Given the description of an element on the screen output the (x, y) to click on. 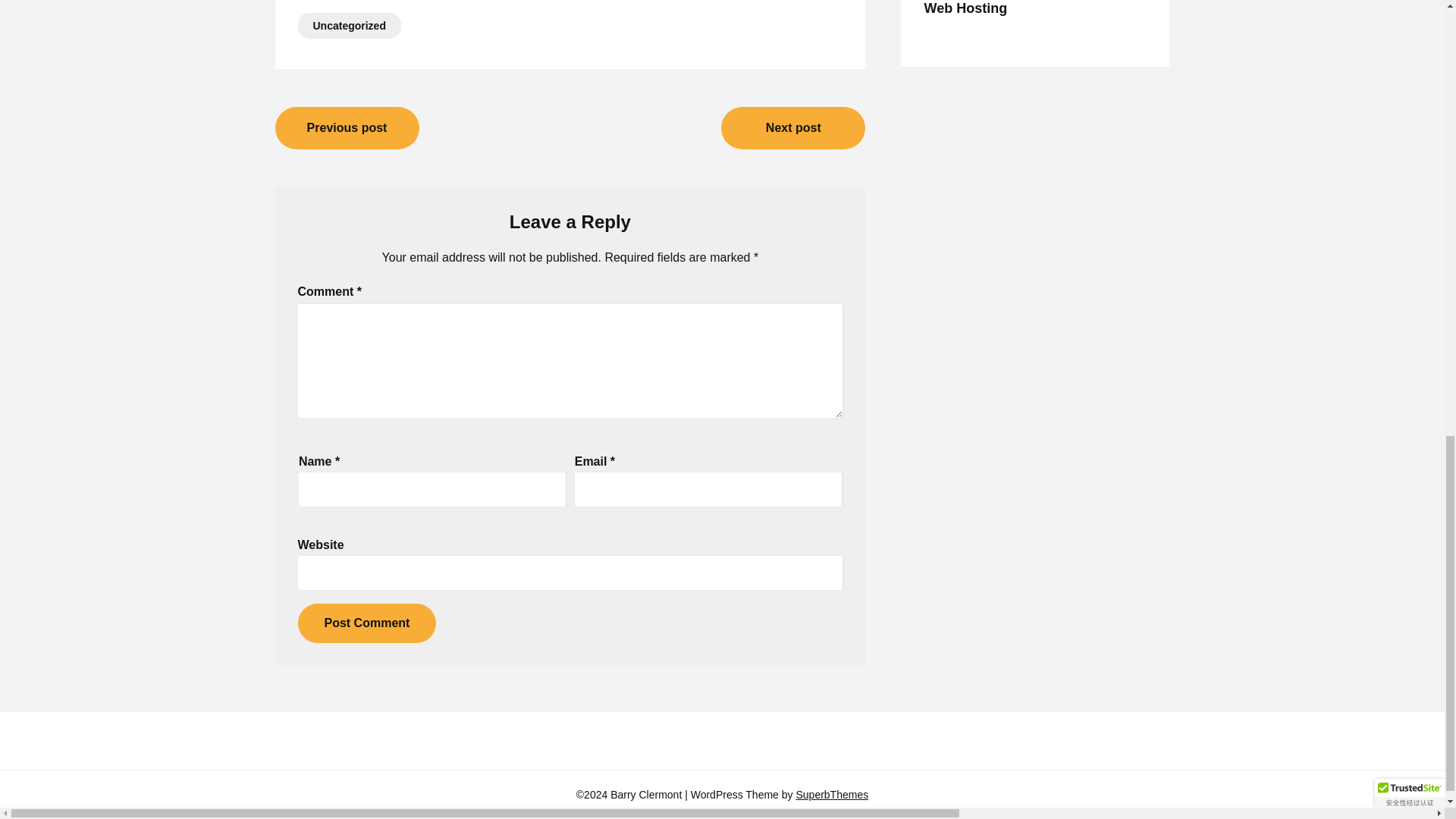
Post Comment (366, 622)
Post Comment (366, 622)
Next post (792, 128)
Previous post (347, 128)
Uncategorized (348, 25)
